Given the description of an element on the screen output the (x, y) to click on. 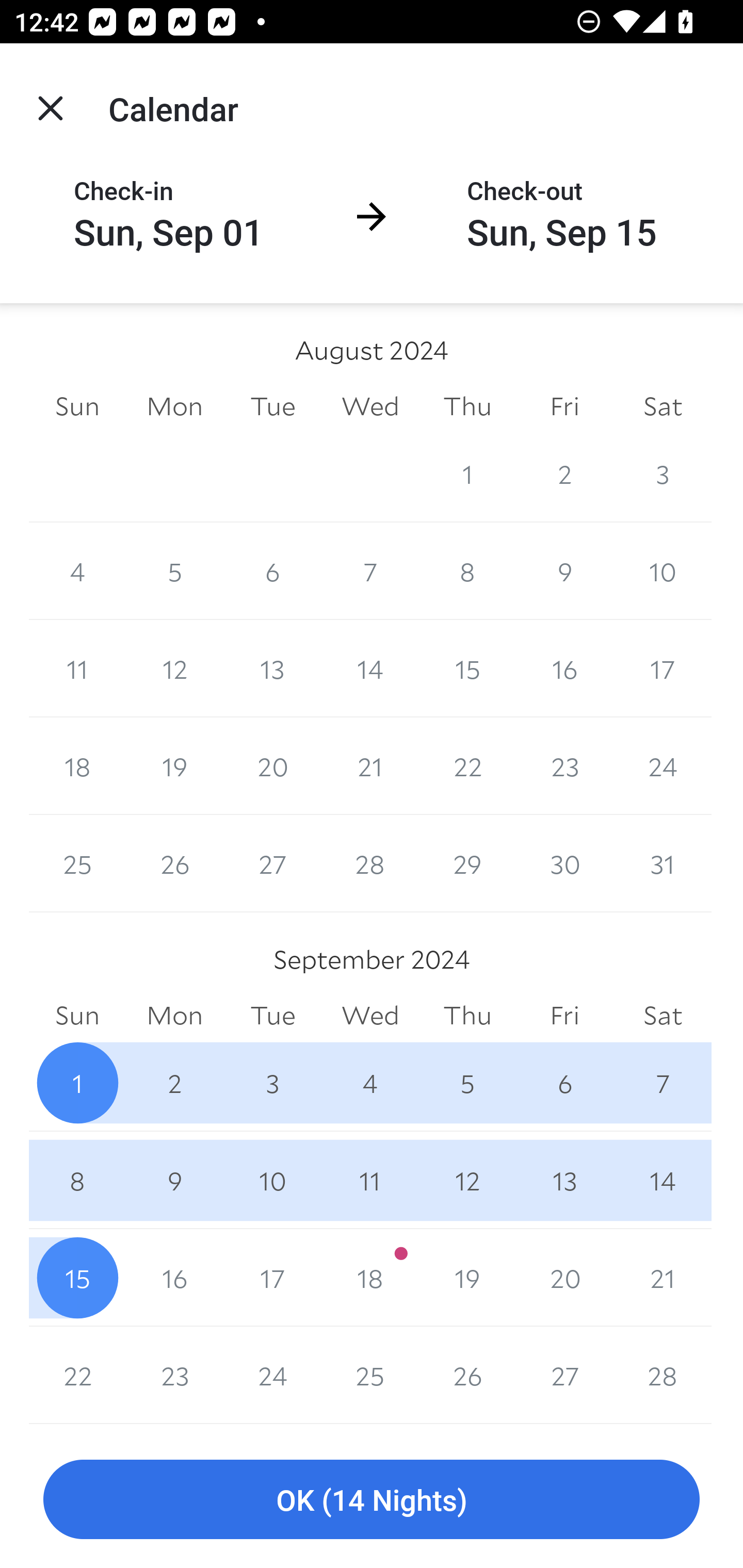
Sun (77, 405)
Mon (174, 405)
Tue (272, 405)
Wed (370, 405)
Thu (467, 405)
Fri (564, 405)
Sat (662, 405)
1 1 August 2024 (467, 473)
2 2 August 2024 (564, 473)
3 3 August 2024 (662, 473)
4 4 August 2024 (77, 570)
5 5 August 2024 (174, 570)
6 6 August 2024 (272, 570)
7 7 August 2024 (370, 570)
8 8 August 2024 (467, 570)
9 9 August 2024 (564, 570)
10 10 August 2024 (662, 570)
11 11 August 2024 (77, 668)
12 12 August 2024 (174, 668)
13 13 August 2024 (272, 668)
14 14 August 2024 (370, 668)
15 15 August 2024 (467, 668)
16 16 August 2024 (564, 668)
17 17 August 2024 (662, 668)
18 18 August 2024 (77, 766)
19 19 August 2024 (174, 766)
20 20 August 2024 (272, 766)
21 21 August 2024 (370, 766)
22 22 August 2024 (467, 766)
23 23 August 2024 (564, 766)
24 24 August 2024 (662, 766)
25 25 August 2024 (77, 863)
26 26 August 2024 (174, 863)
27 27 August 2024 (272, 863)
28 28 August 2024 (370, 863)
29 29 August 2024 (467, 863)
30 30 August 2024 (564, 863)
31 31 August 2024 (662, 863)
Sun (77, 1015)
Mon (174, 1015)
Tue (272, 1015)
Wed (370, 1015)
Thu (467, 1015)
Fri (564, 1015)
Sat (662, 1015)
1 1 September 2024 (77, 1083)
2 2 September 2024 (174, 1083)
3 3 September 2024 (272, 1083)
4 4 September 2024 (370, 1083)
5 5 September 2024 (467, 1083)
6 6 September 2024 (564, 1083)
7 7 September 2024 (662, 1083)
8 8 September 2024 (77, 1180)
9 9 September 2024 (174, 1180)
10 10 September 2024 (272, 1180)
11 11 September 2024 (370, 1180)
12 12 September 2024 (467, 1180)
13 13 September 2024 (564, 1180)
14 14 September 2024 (662, 1180)
15 15 September 2024 (77, 1277)
16 16 September 2024 (174, 1277)
17 17 September 2024 (272, 1277)
18 18 September 2024 (370, 1277)
19 19 September 2024 (467, 1277)
20 20 September 2024 (564, 1277)
21 21 September 2024 (662, 1277)
22 22 September 2024 (77, 1374)
23 23 September 2024 (174, 1374)
24 24 September 2024 (272, 1374)
25 25 September 2024 (370, 1374)
26 26 September 2024 (467, 1374)
27 27 September 2024 (564, 1374)
28 28 September 2024 (662, 1374)
OK (14 Nights) (371, 1499)
